Given the description of an element on the screen output the (x, y) to click on. 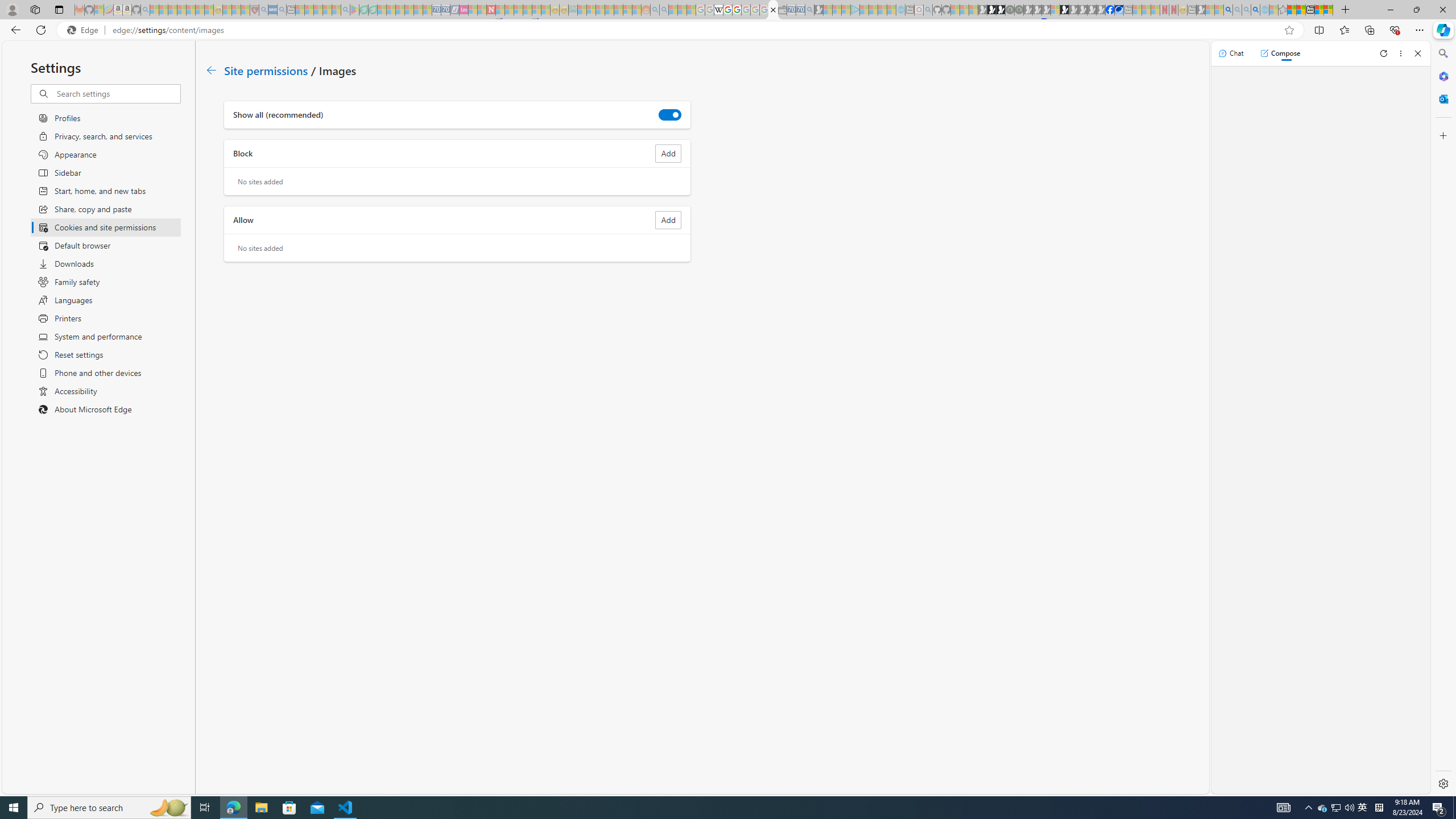
AQI & Health | AirNow.gov (1118, 9)
Nordace | Facebook (1109, 9)
Go back to Site permissions page. (210, 70)
